Given the description of an element on the screen output the (x, y) to click on. 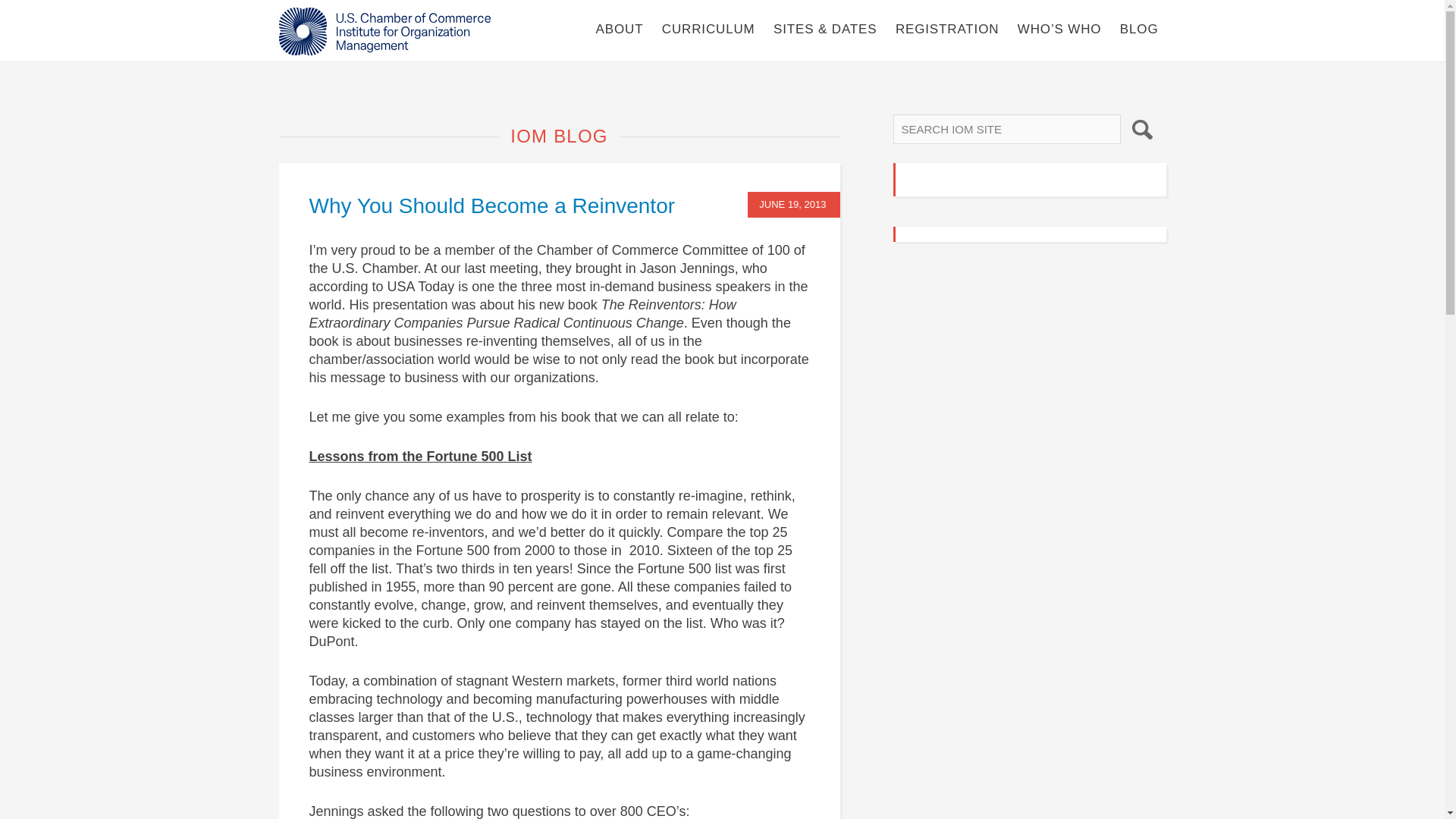
CURRICULUM (707, 29)
Blog (1139, 29)
ABOUT (619, 29)
REGISTRATION (947, 29)
BLOG (1139, 29)
